Given the description of an element on the screen output the (x, y) to click on. 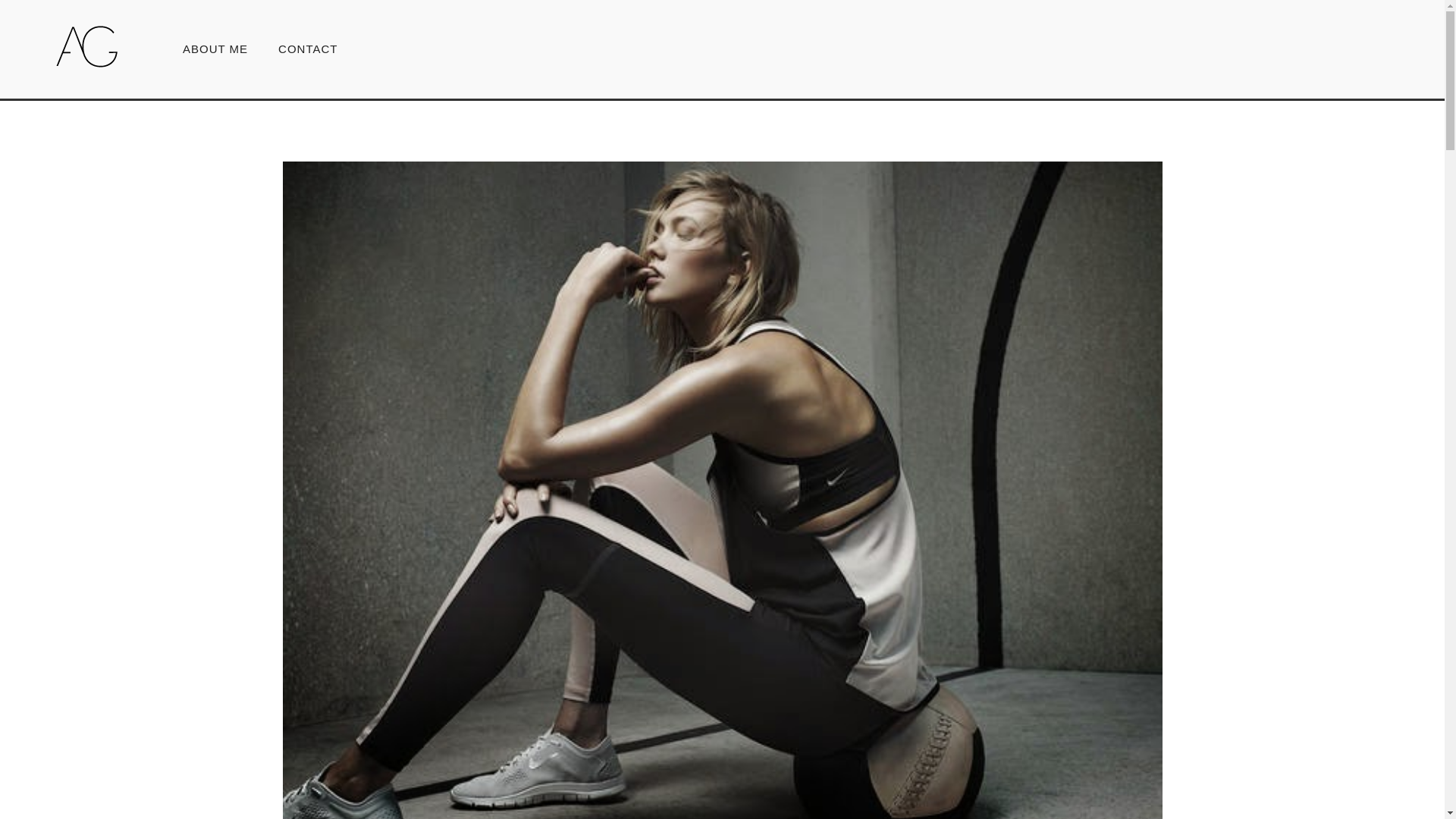
CONTACT (300, 48)
ABOUT ME (215, 48)
